Given the description of an element on the screen output the (x, y) to click on. 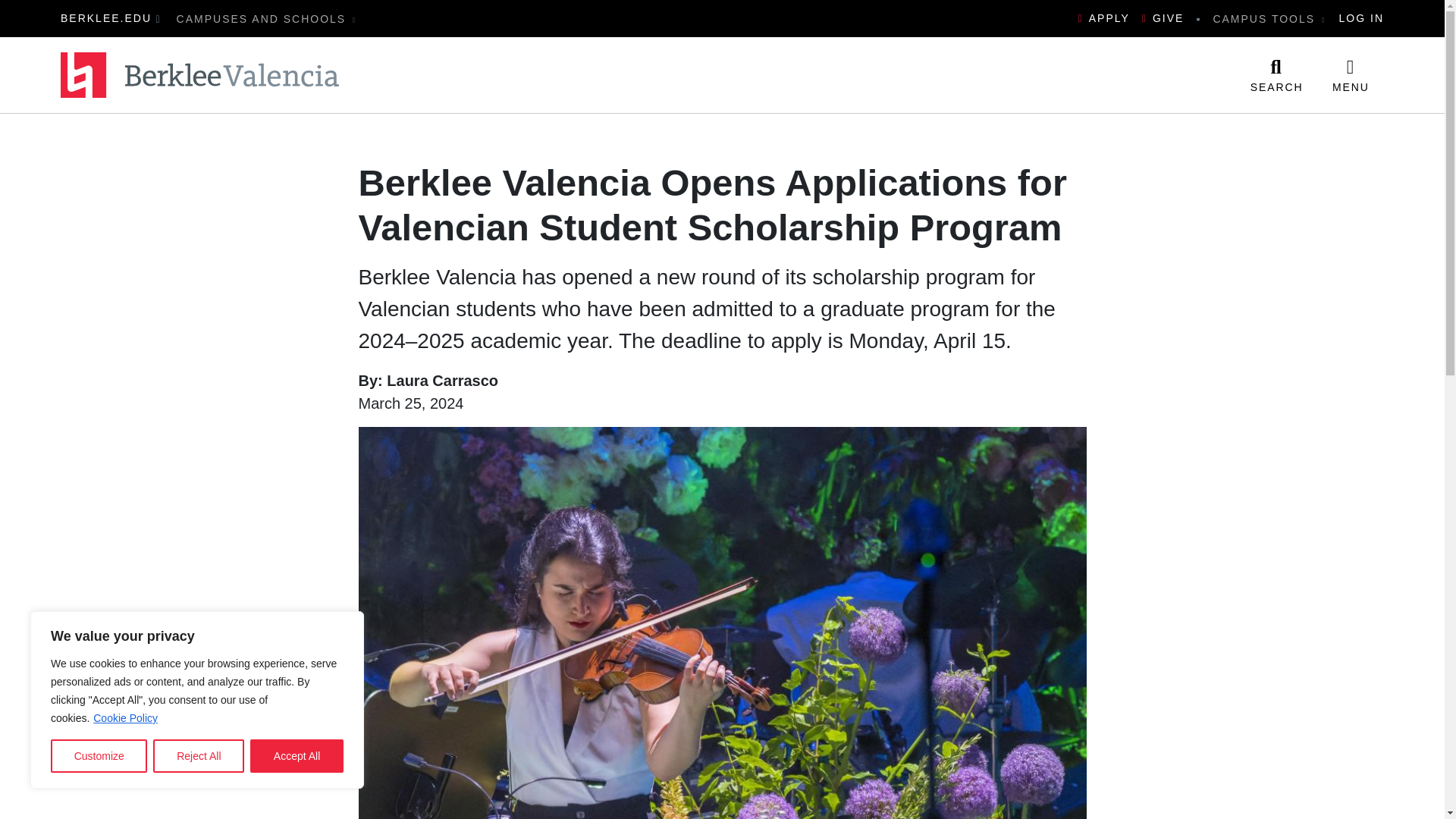
Customize (98, 756)
CAMPUS TOOLS (1268, 18)
APPLY (1103, 18)
BERKLEE.EDU (106, 18)
CAMPUSES AND SCHOOLS (267, 18)
Accept All (296, 756)
Reject All (198, 756)
GIVE (1163, 18)
Cookie Policy (125, 717)
Home (200, 75)
